Given the description of an element on the screen output the (x, y) to click on. 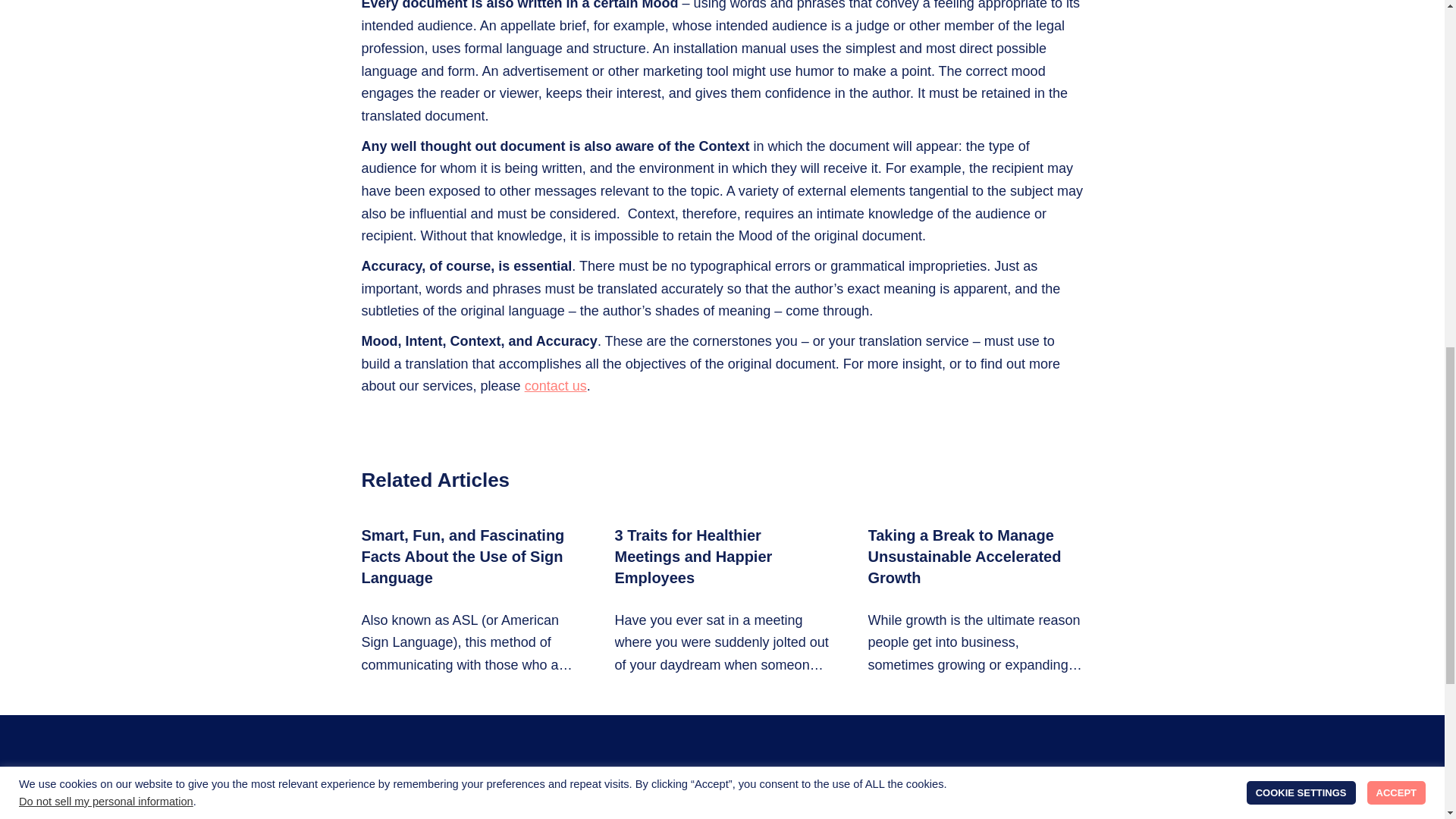
Taking a Break to Manage Unsustainable Accelerated Growth (975, 600)
3 Traits for Healthier Meetings and Happier Employees (721, 600)
contact us (555, 385)
